Given the description of an element on the screen output the (x, y) to click on. 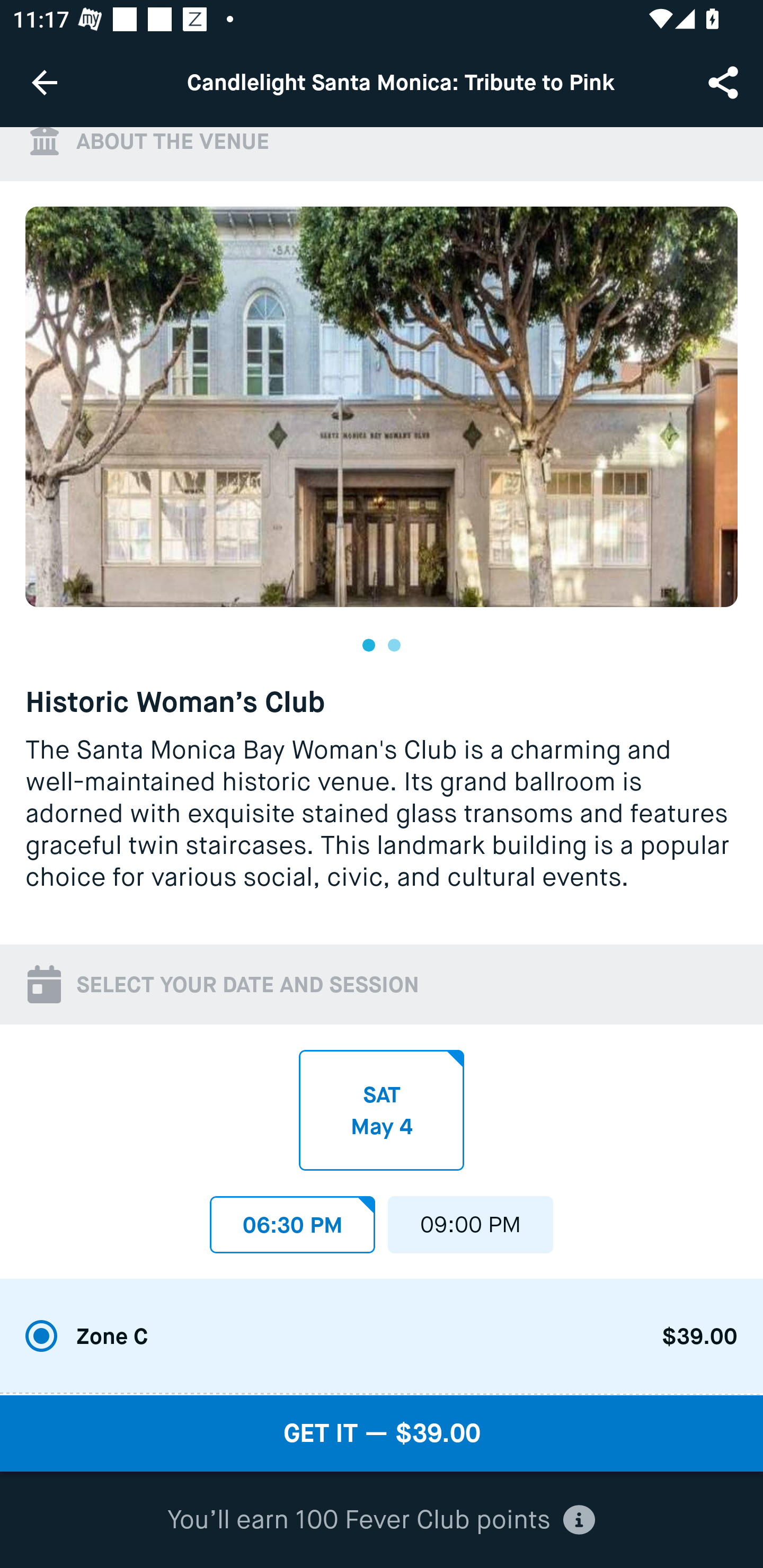
Navigate up (44, 82)
Share (724, 81)
SAT
May 4 (381, 1110)
06:30 PM (292, 1219)
09:00 PM (470, 1219)
Zone C $39.00 (381, 1337)
Zone B $53.00 (381, 1395)
GET IT — $39.00 (381, 1433)
You’ll earn 100 Fever Club points (381, 1519)
